Given the description of an element on the screen output the (x, y) to click on. 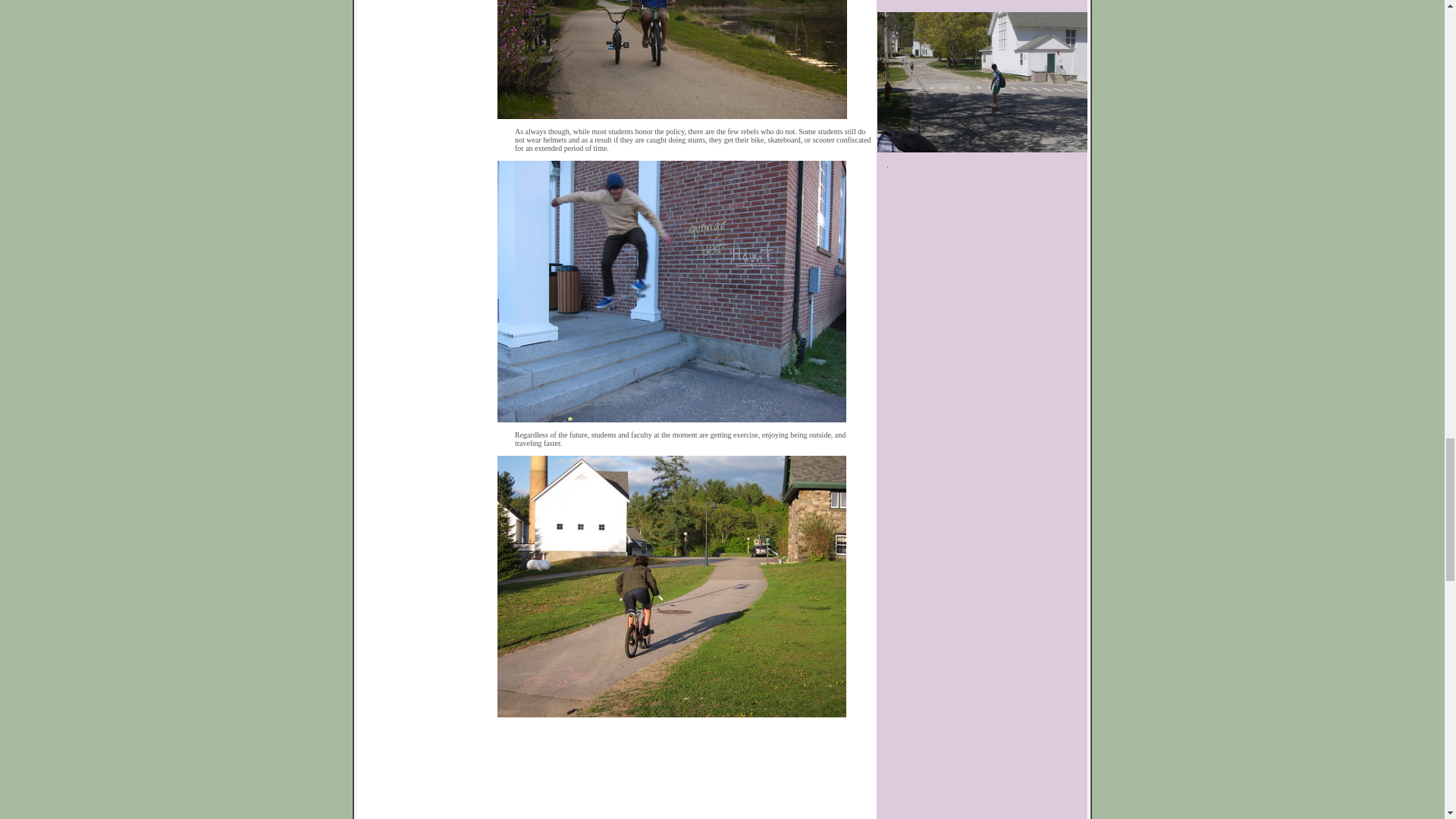
Will with an bikes by stephen1625, on Flickr (681, 115)
